Given the description of an element on the screen output the (x, y) to click on. 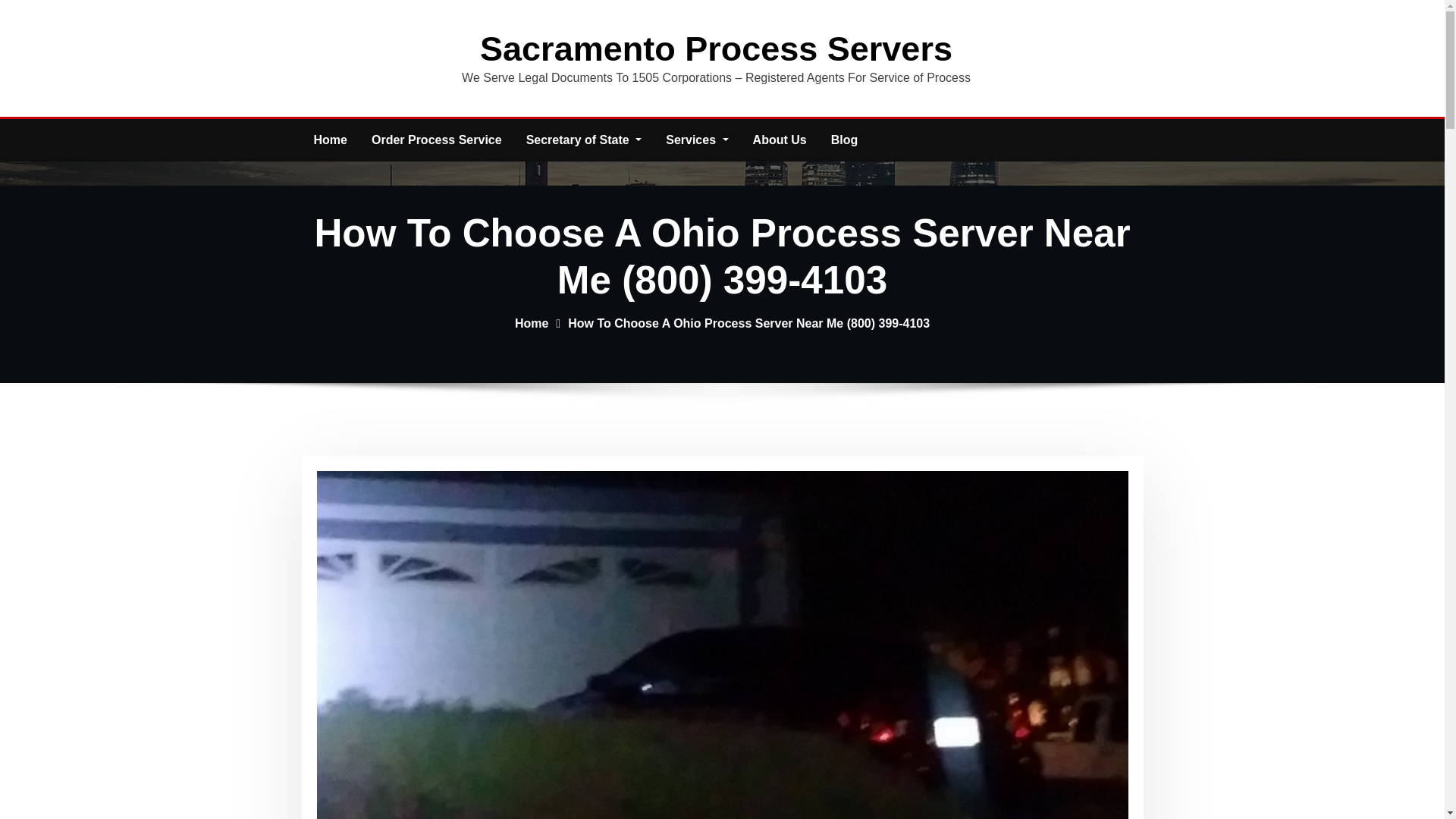
Order Process Service (436, 139)
Home (531, 323)
About Us (779, 139)
Sacramento Process Servers (716, 48)
Services (696, 139)
Secretary of State (583, 139)
Blog (844, 139)
Home (330, 139)
